Given the description of an element on the screen output the (x, y) to click on. 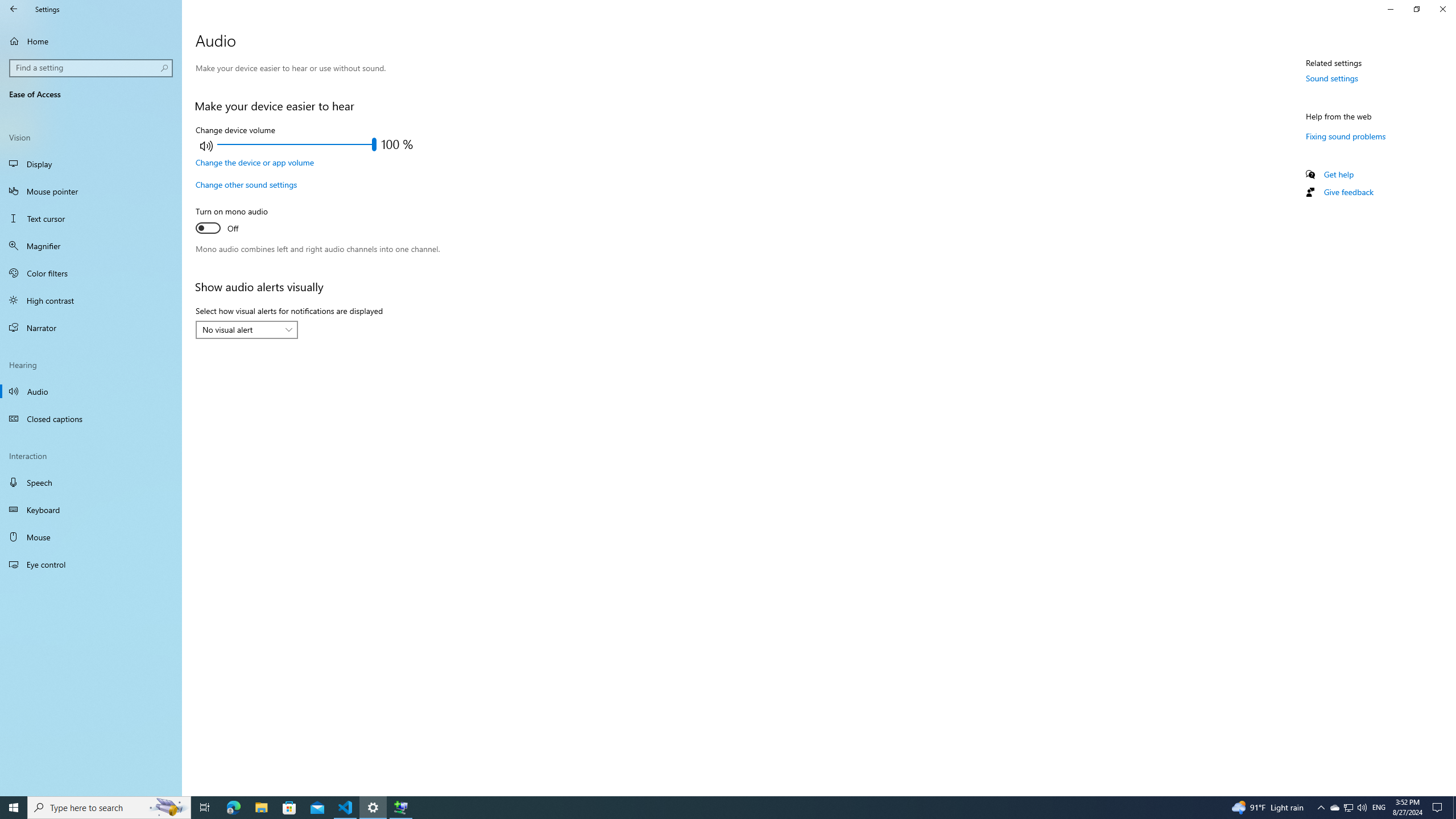
No visual alert (240, 329)
Sound settings (1332, 77)
Mouse pointer (91, 190)
Mouse (91, 536)
High contrast (91, 299)
Display (91, 163)
Text cursor (91, 217)
